Given the description of an element on the screen output the (x, y) to click on. 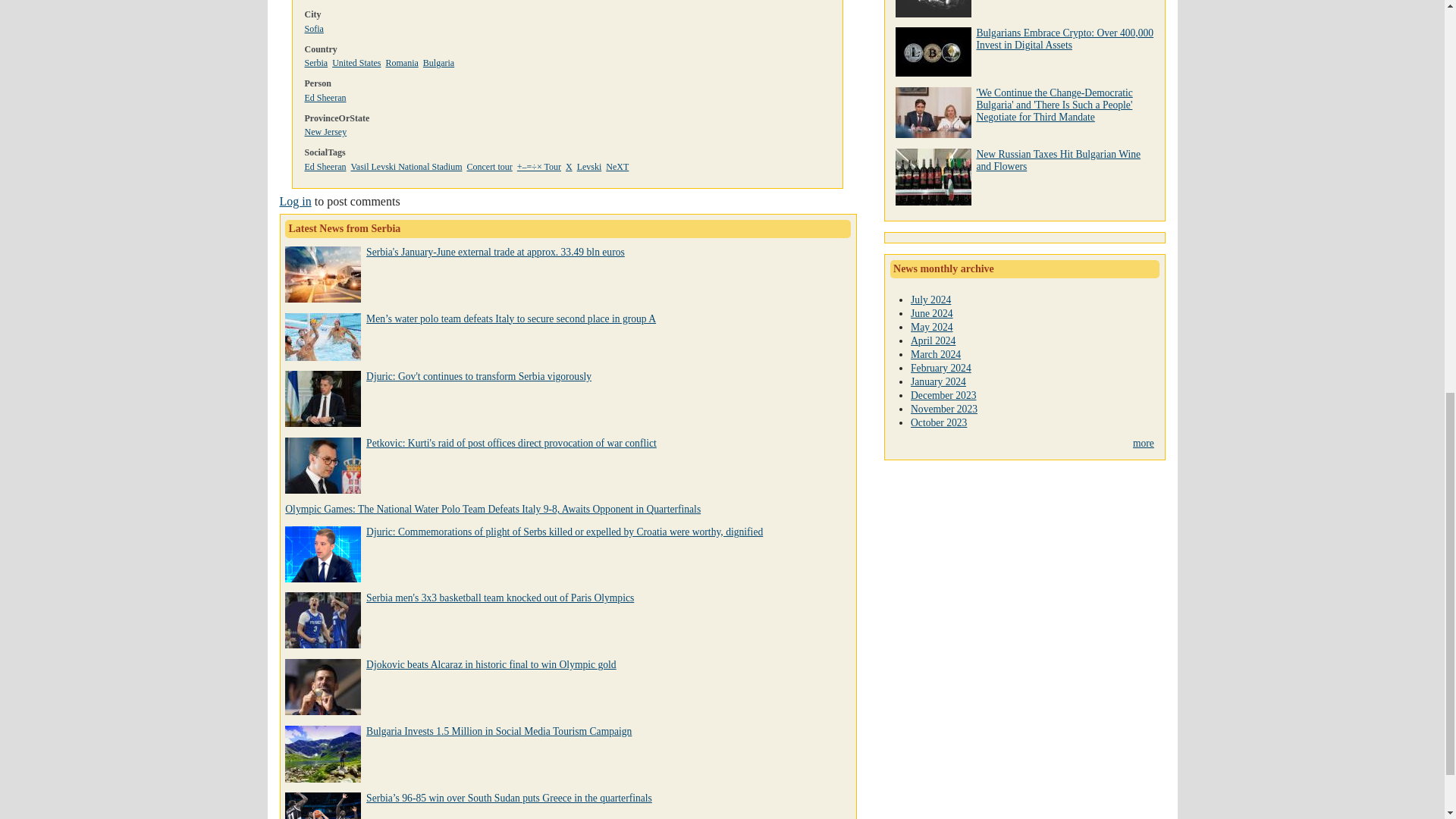
Sofia (313, 28)
Vasil Levski National Stadium (405, 166)
Ed Sheeran (325, 166)
United States (355, 62)
Ed Sheeran (325, 97)
New Jersey (325, 131)
Concert tour (488, 166)
Serbia (316, 62)
Levski (589, 166)
Log in (295, 201)
